Given the description of an element on the screen output the (x, y) to click on. 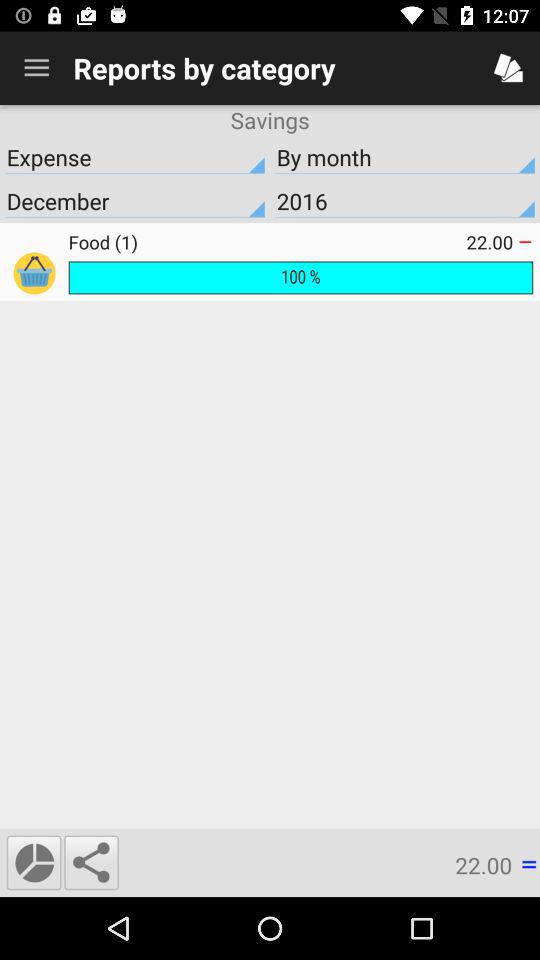
select 2016 icon (405, 201)
